Given the description of an element on the screen output the (x, y) to click on. 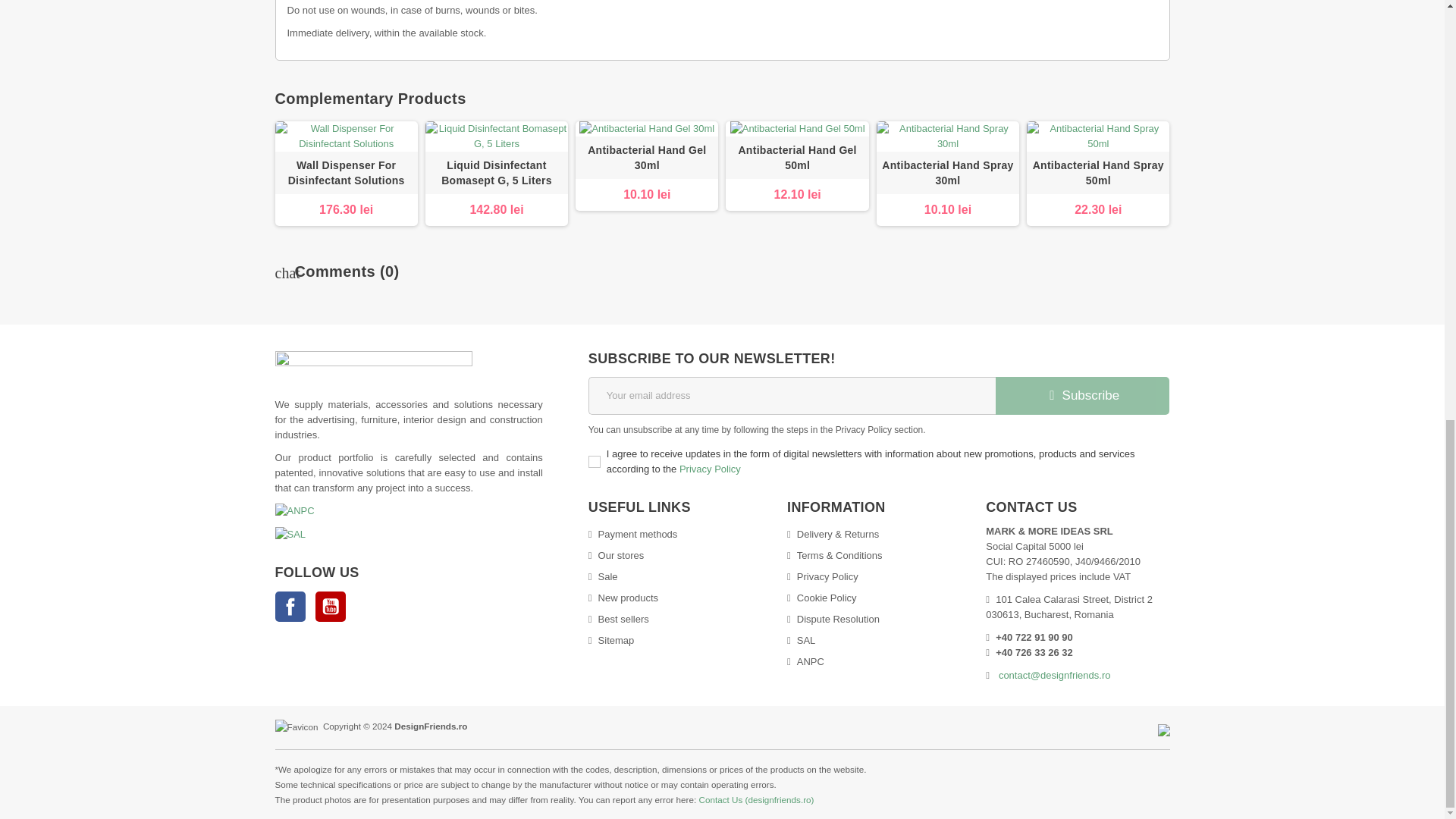
Antibacterial Hand Gel 50ml (796, 157)
Antibacterial Hand Gel 30ml (646, 128)
Antibacterial Hand Gel 30ml (646, 157)
Antibacterial Hand Spray 30ml (947, 172)
Wall Dispenser For Disinfectant Solutions (346, 173)
Antibacterial Hand Gel 50ml (796, 157)
Antibacterial Hand Gel 30ml (646, 157)
Antibacterial Hand Spray 50ml (1097, 136)
Liquid Disinfectant Bomasept G, 5 Liters (496, 136)
Wall Dispenser For Disinfectant Solutions (345, 172)
